Given the description of an element on the screen output the (x, y) to click on. 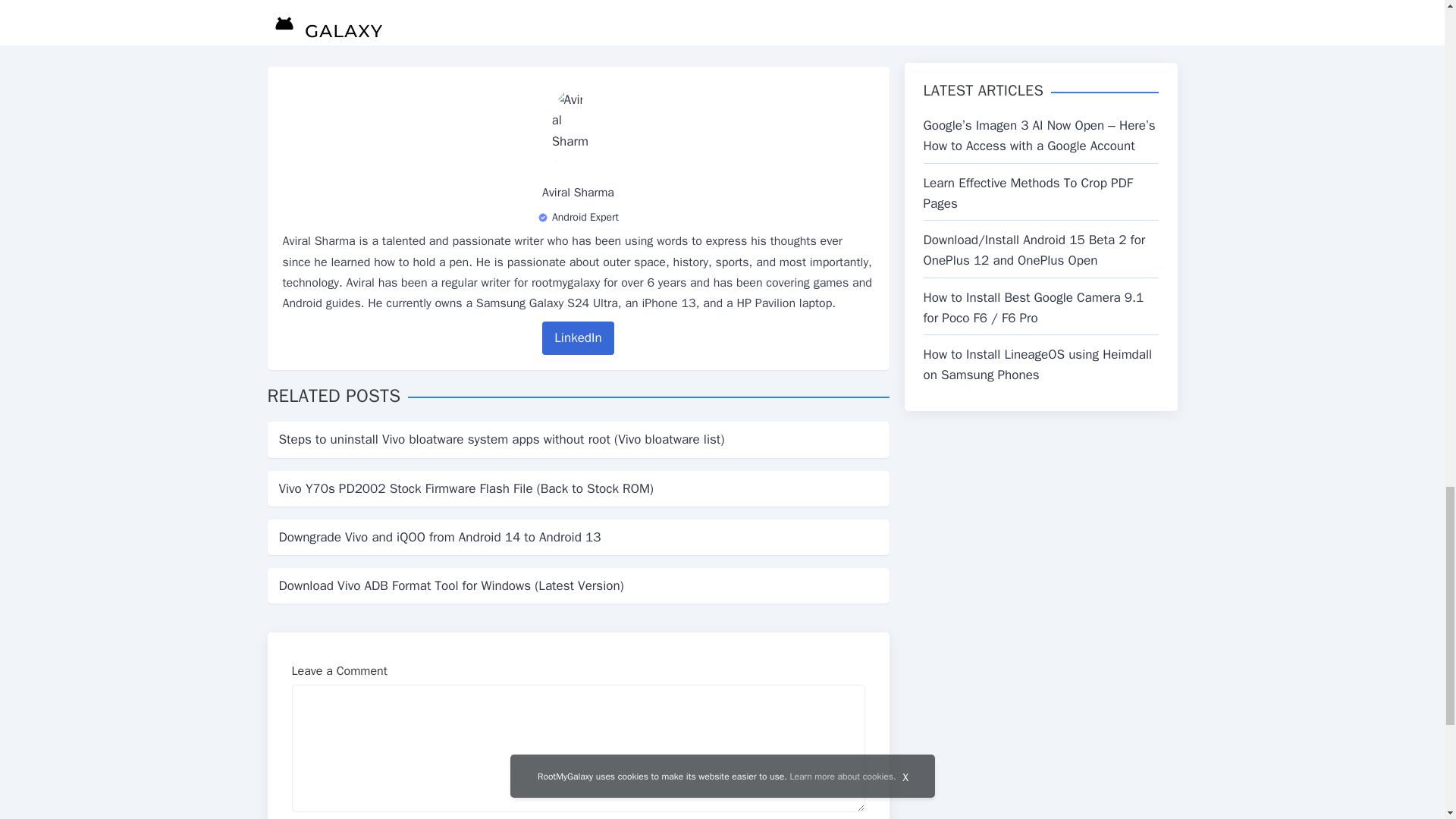
Funtouch OS 12 (359, 2)
Vivo Y51a (555, 2)
Vivo (513, 2)
